Given the description of an element on the screen output the (x, y) to click on. 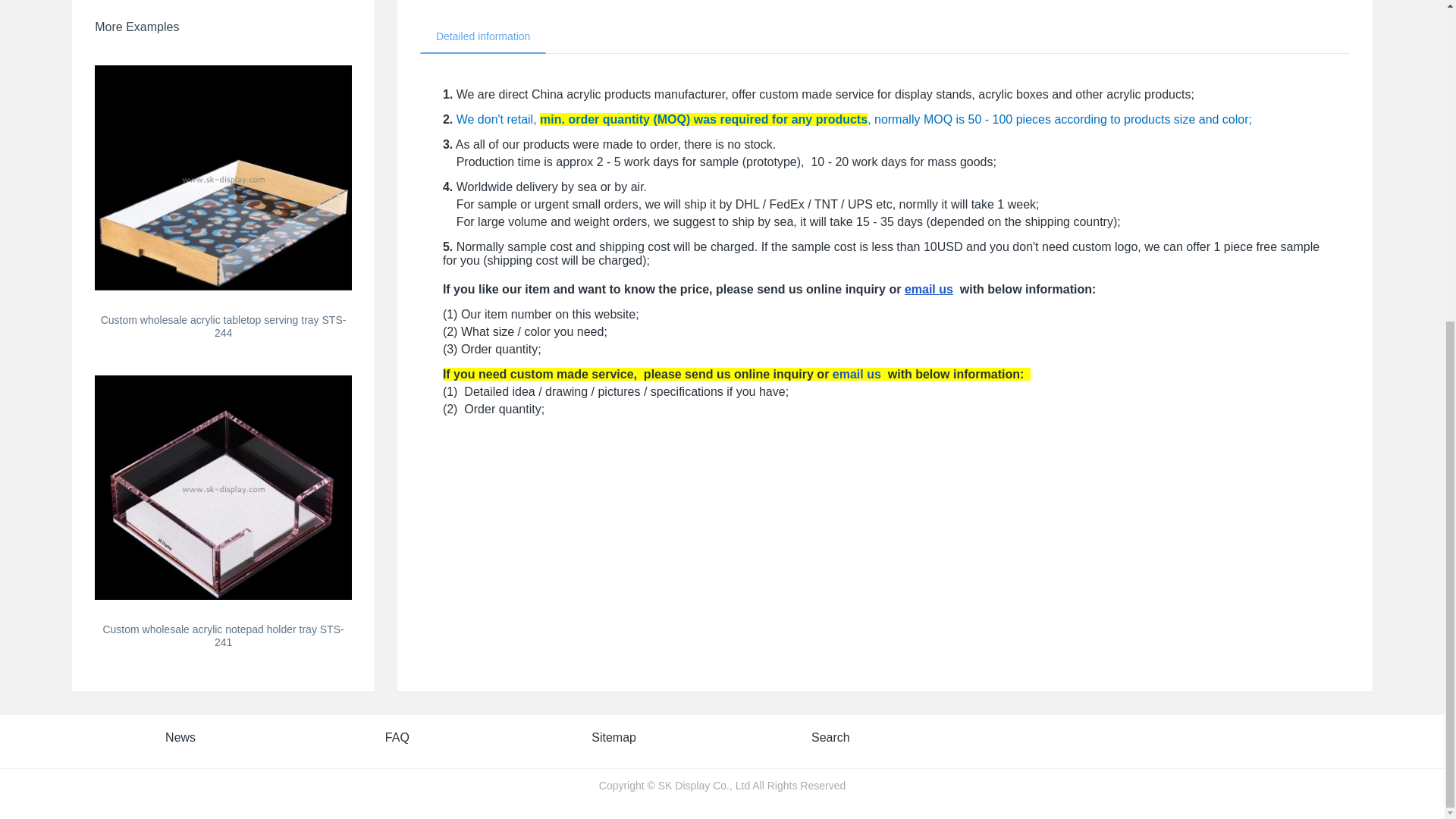
Detailed information (483, 36)
email us (928, 288)
email us (856, 373)
